Given the description of an element on the screen output the (x, y) to click on. 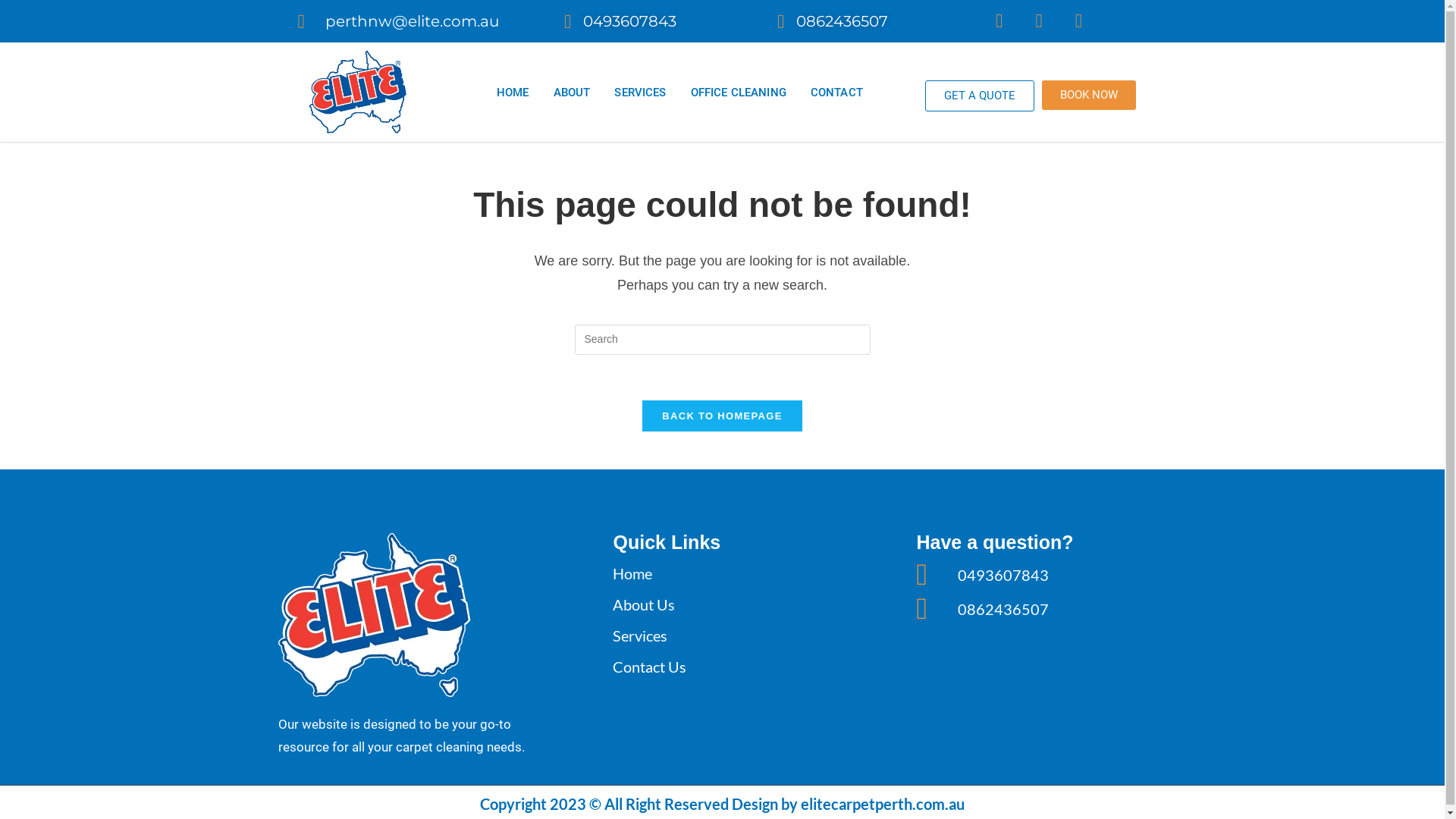
SERVICES Element type: text (639, 92)
Home Element type: text (737, 572)
GET A QUOTE Element type: text (979, 95)
About Us Element type: text (737, 604)
Services Element type: text (737, 635)
Contact Us Element type: text (737, 666)
perthnw@elite.com.au Element type: text (403, 20)
0862436507 Element type: text (1041, 608)
HOME Element type: text (512, 92)
CONTACT Element type: text (836, 92)
ABOUT Element type: text (571, 92)
0493607843 Element type: text (1041, 574)
0862436507 Element type: text (827, 20)
0493607843 Element type: text (615, 20)
BACK TO HOMEPAGE Element type: text (721, 415)
BOOK NOW Element type: text (1088, 94)
OFFICE CLEANING Element type: text (738, 92)
